Given the description of an element on the screen output the (x, y) to click on. 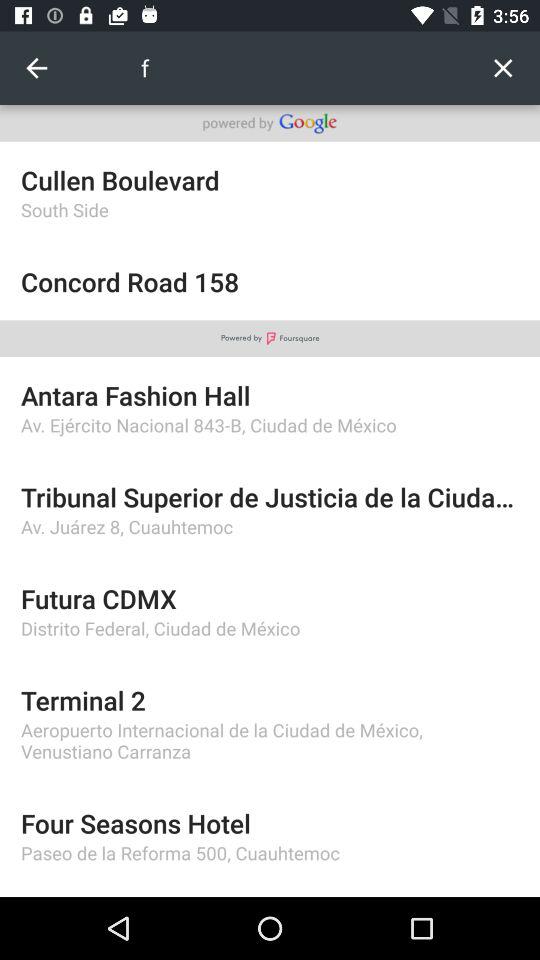
choose the futura cdmx (270, 598)
